Given the description of an element on the screen output the (x, y) to click on. 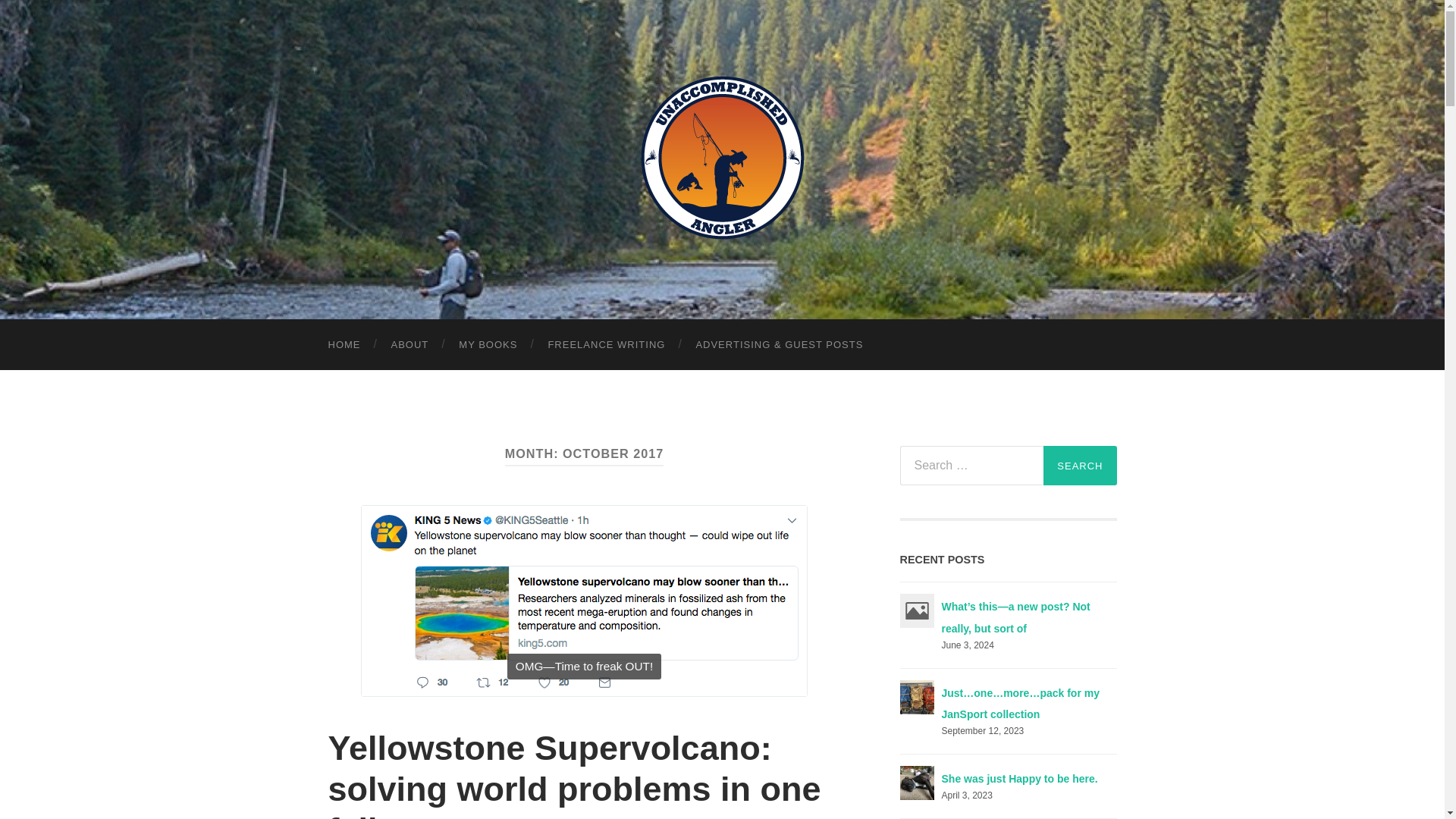
Search (1079, 465)
MY BOOKS (488, 344)
HOME (344, 344)
ABOUT (409, 344)
FREELANCE WRITING (605, 344)
Unaccomplished Angler (721, 157)
Search (1079, 465)
Permalink to She was just Happy to be here. (1019, 778)
